Given the description of an element on the screen output the (x, y) to click on. 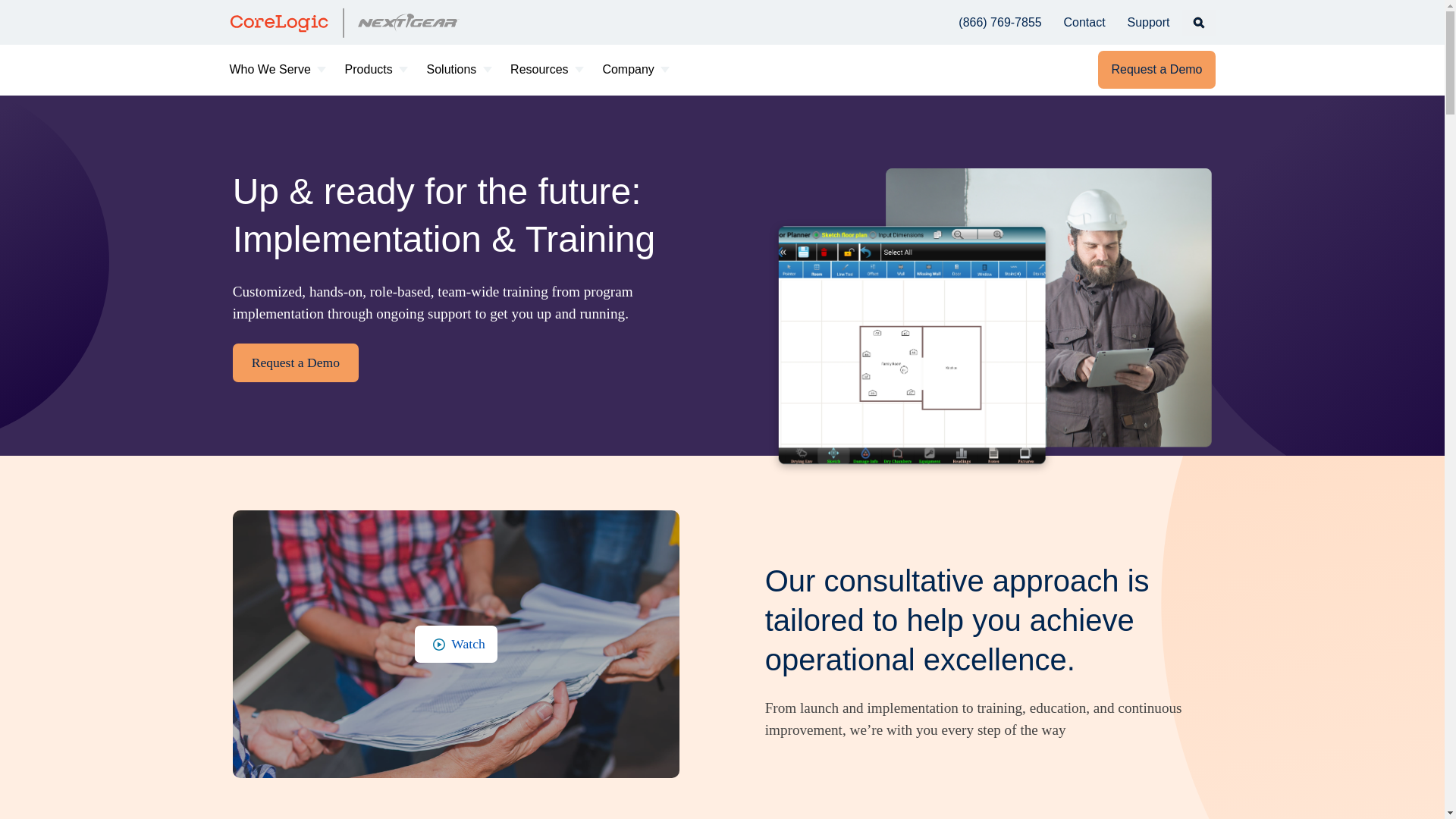
Solutions (459, 69)
Products (377, 69)
Support (1147, 21)
Who We Serve (277, 69)
Resources (548, 69)
Contact (1084, 21)
